Given the description of an element on the screen output the (x, y) to click on. 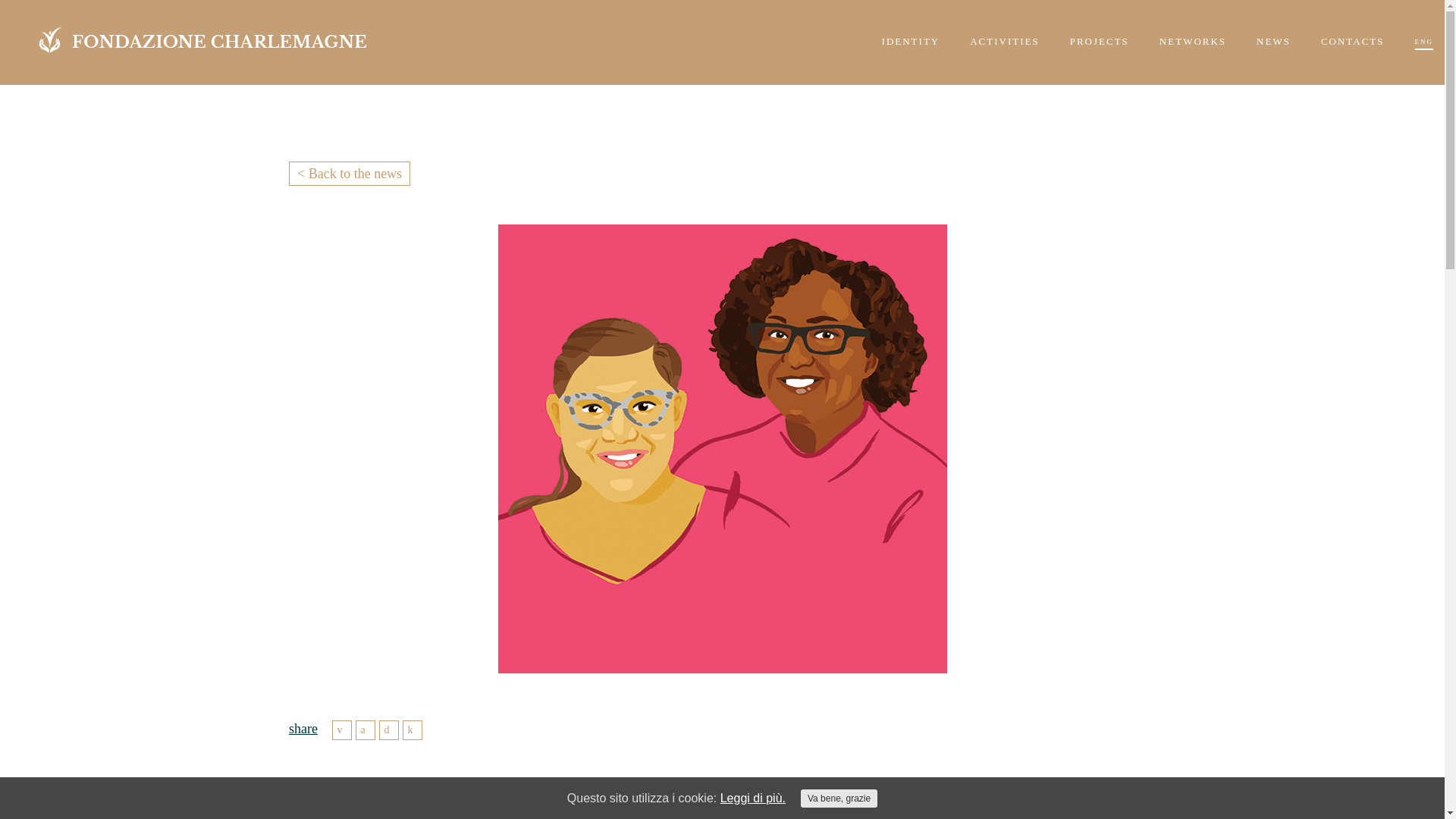
Va bene, grazie (838, 798)
ENG (1424, 33)
ACTIVITIES (1004, 33)
CONTACTS (1352, 33)
NEWS (1273, 33)
NETWORKS (1191, 33)
PROJECTS (1099, 33)
IDENTITY (911, 33)
